Given the description of an element on the screen output the (x, y) to click on. 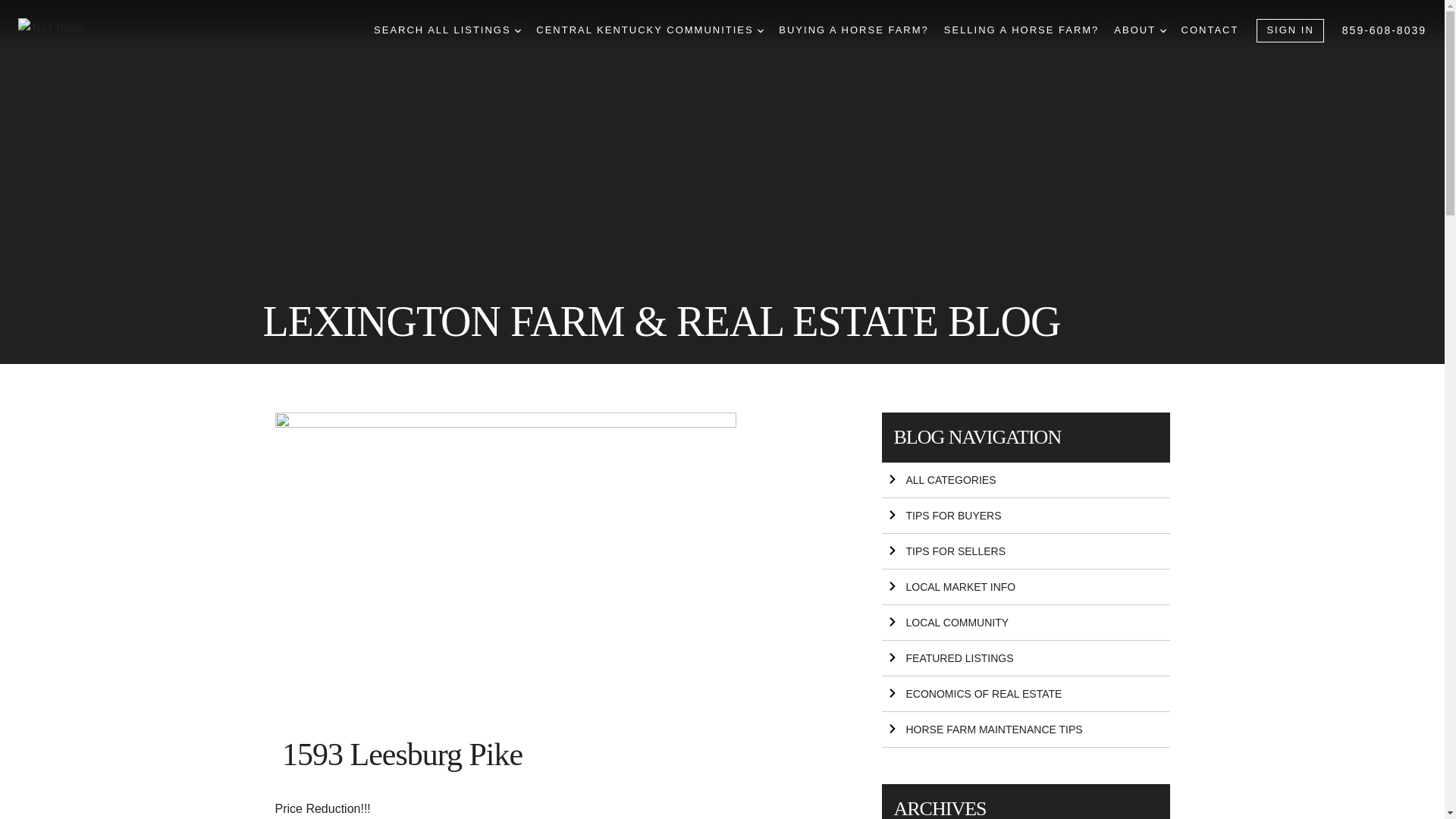
859-608-8039 (1384, 29)
DROPDOWN ARROW (518, 30)
SELLING A HORSE FARM? (1021, 30)
CENTRAL KENTUCKY COMMUNITIES DROPDOWN ARROW (648, 30)
SIGN IN (1289, 30)
SEARCH ALL LISTINGS DROPDOWN ARROW (447, 30)
ABOUT DROPDOWN ARROW (1139, 30)
CONTACT (1209, 30)
DROPDOWN ARROW (759, 30)
DROPDOWN ARROW (1163, 30)
